Given the description of an element on the screen output the (x, y) to click on. 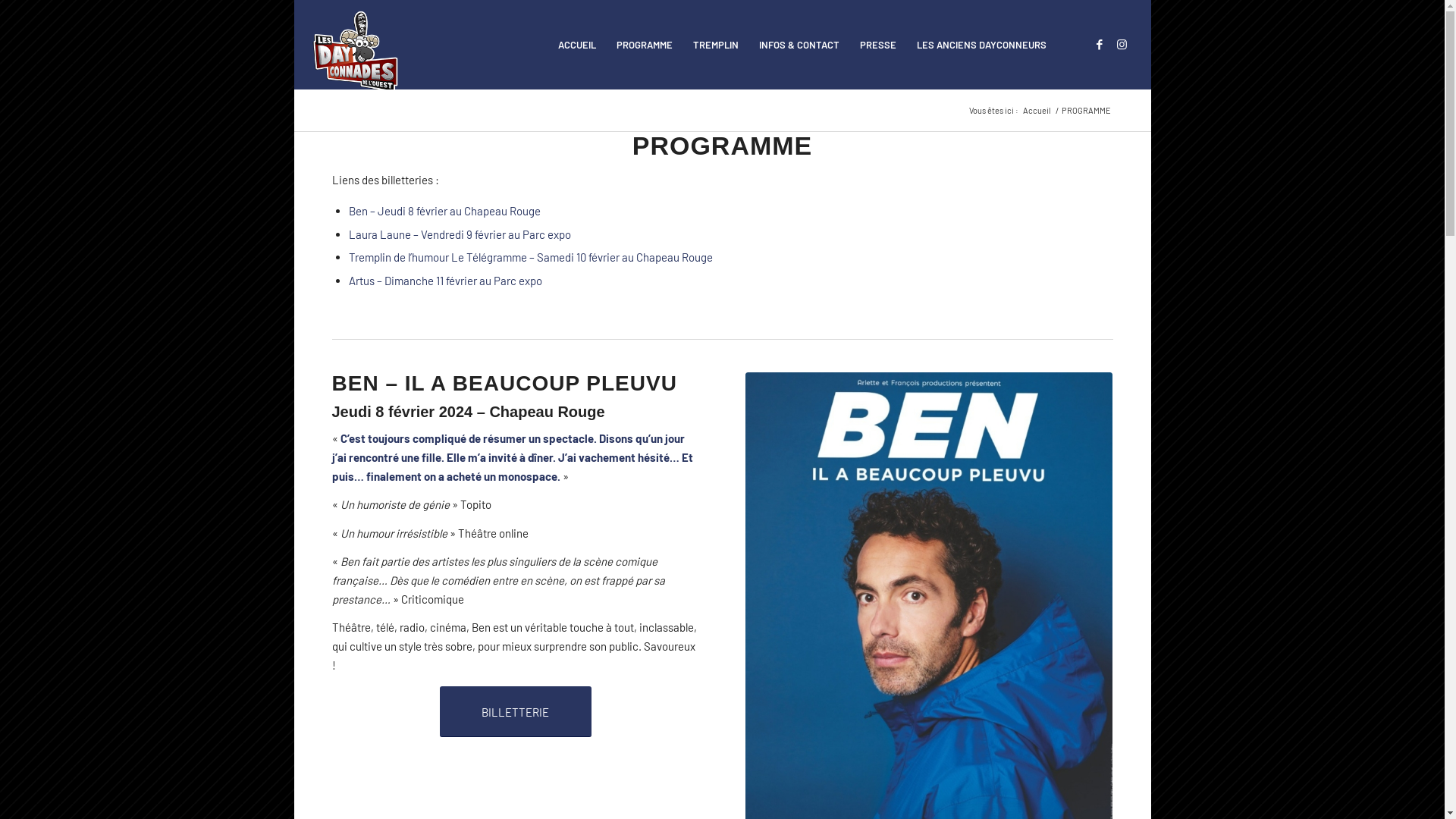
PRESSE Element type: text (877, 44)
LOGO 200X200 Element type: hover (355, 52)
Facebook Element type: hover (1099, 43)
Instagram Element type: hover (1121, 43)
LES ANCIENS DAYCONNEURS Element type: text (981, 44)
TREMPLIN Element type: text (715, 44)
BILLETTERIE Element type: text (515, 711)
PROGRAMME Element type: text (643, 44)
INFOS & CONTACT Element type: text (798, 44)
LOGO 200X200 Element type: hover (355, 44)
ACCUEIL Element type: text (576, 44)
Accueil Element type: text (1036, 110)
